Given the description of an element on the screen output the (x, y) to click on. 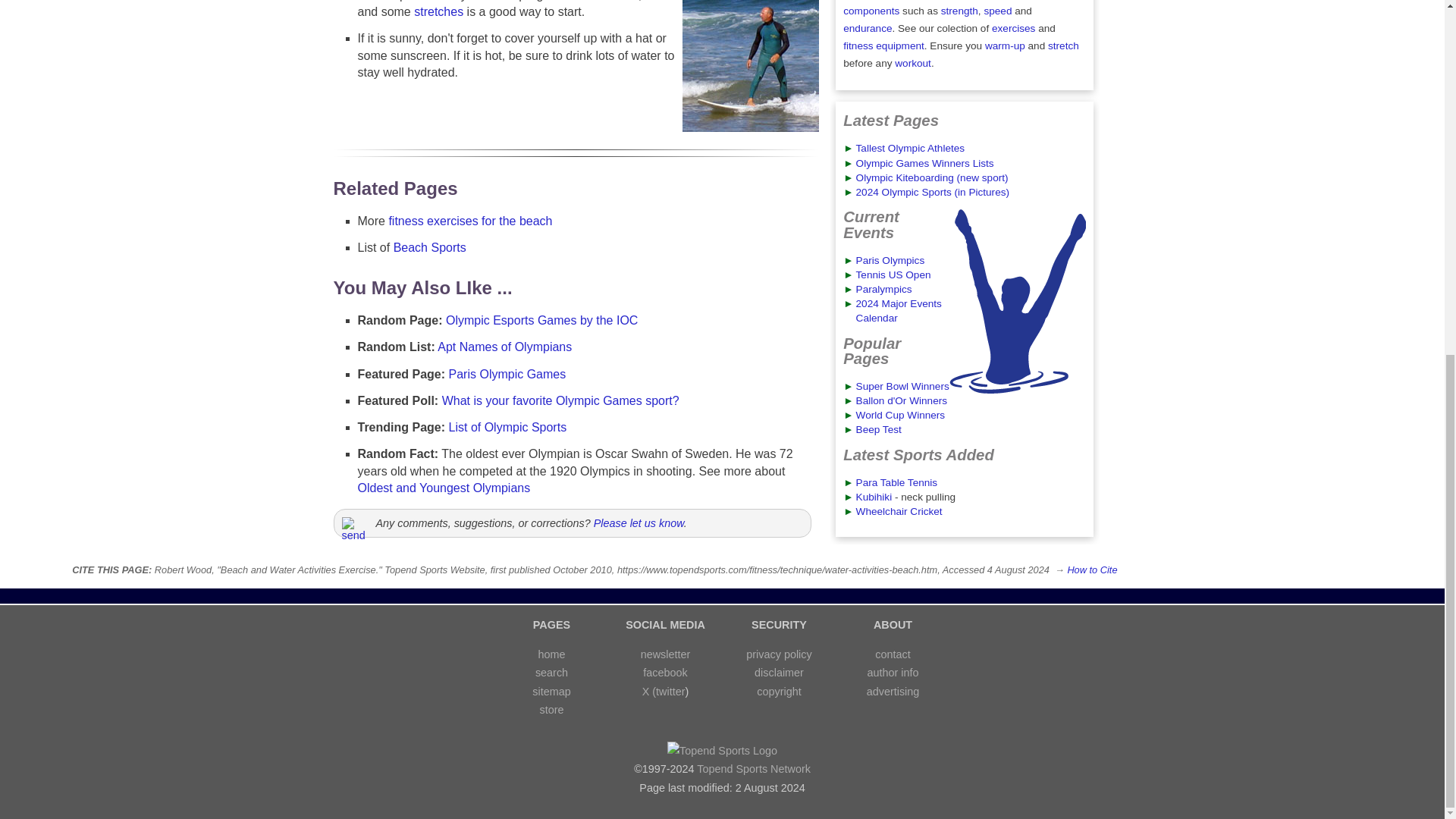
Paris Olympic Games (507, 373)
Apt Names of Olympians (505, 346)
Please let us know (639, 522)
What is your favorite Olympic Games sport? (560, 400)
Oldest and Youngest Olympians (444, 487)
fitness exercises for the beach (469, 220)
List of Olympic Sports (507, 427)
stretches (438, 11)
Beach Sports (429, 246)
Olympic Esports Games by the IOC (541, 319)
